Given the description of an element on the screen output the (x, y) to click on. 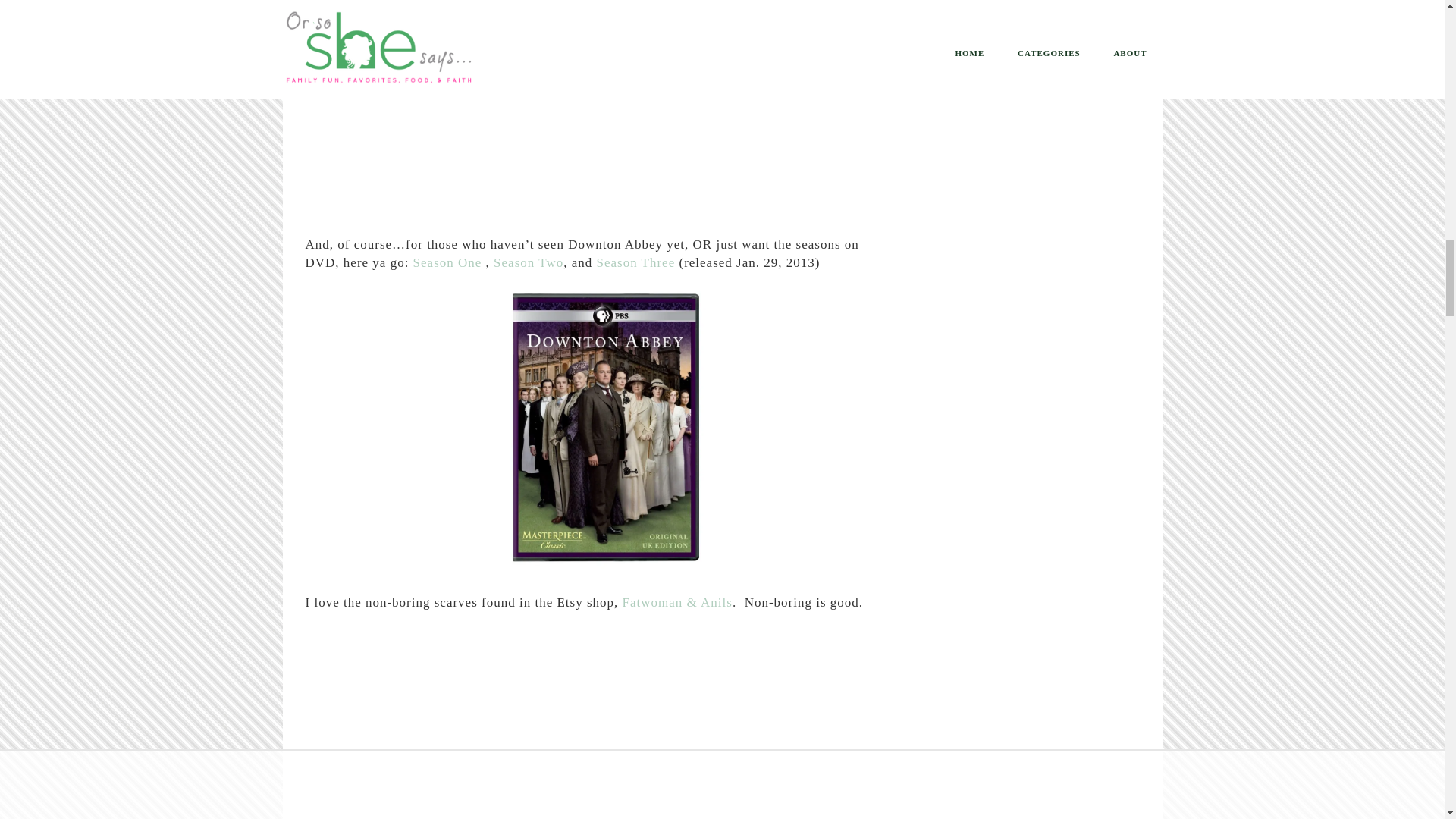
Season One (449, 262)
Season Two (528, 262)
Season Three (635, 262)
